Given the description of an element on the screen output the (x, y) to click on. 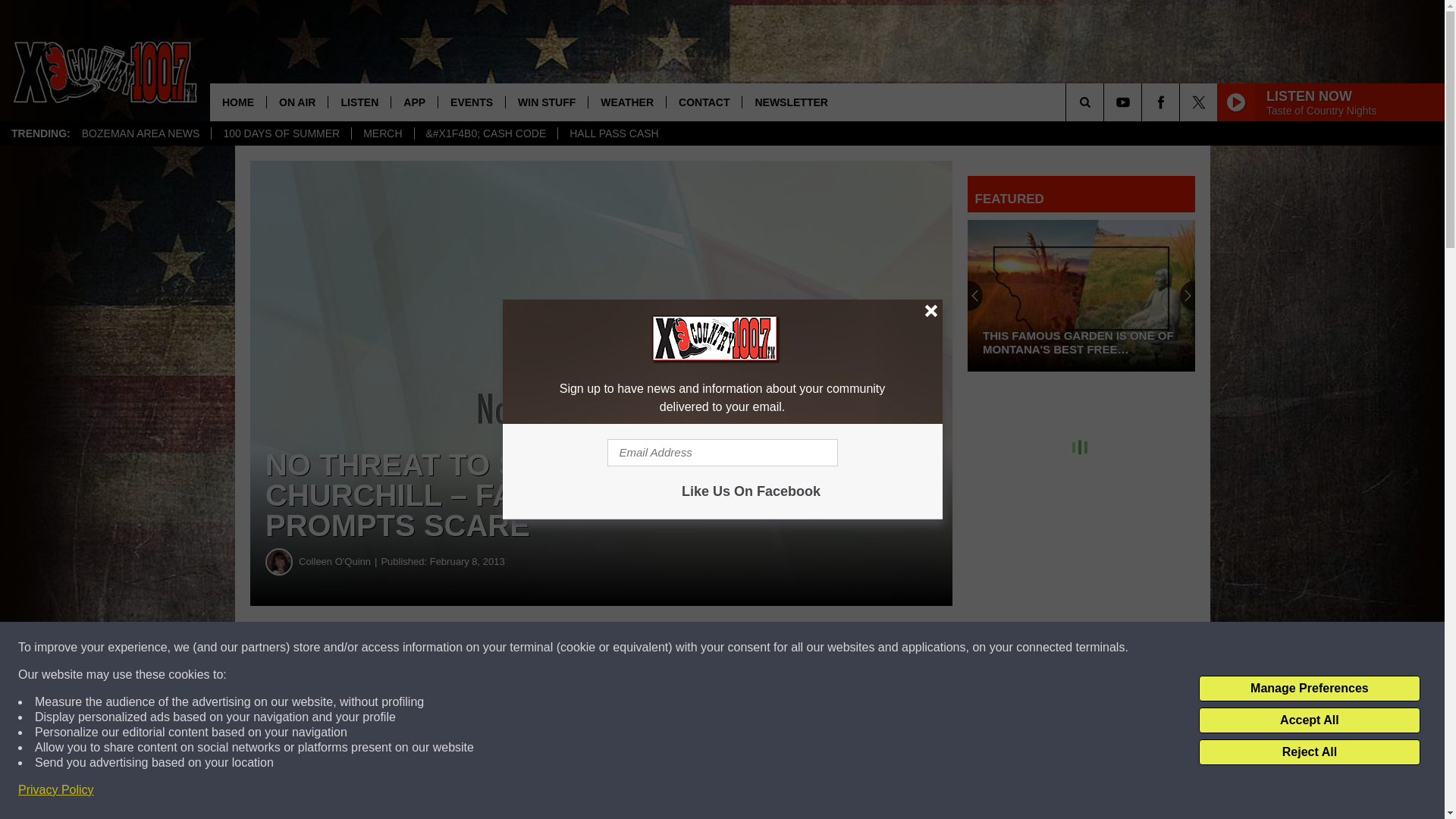
BOZEMAN AREA NEWS (140, 133)
Share on Facebook (460, 647)
Accept All (1309, 720)
LISTEN (358, 102)
Reject All (1309, 751)
100 DAYS OF SUMMER (280, 133)
Email Address (722, 452)
WIN STUFF (546, 102)
WEATHER (626, 102)
Privacy Policy (55, 789)
EVENTS (471, 102)
HOME (237, 102)
APP (414, 102)
MERCH (381, 133)
Manage Preferences (1309, 688)
